Given the description of an element on the screen output the (x, y) to click on. 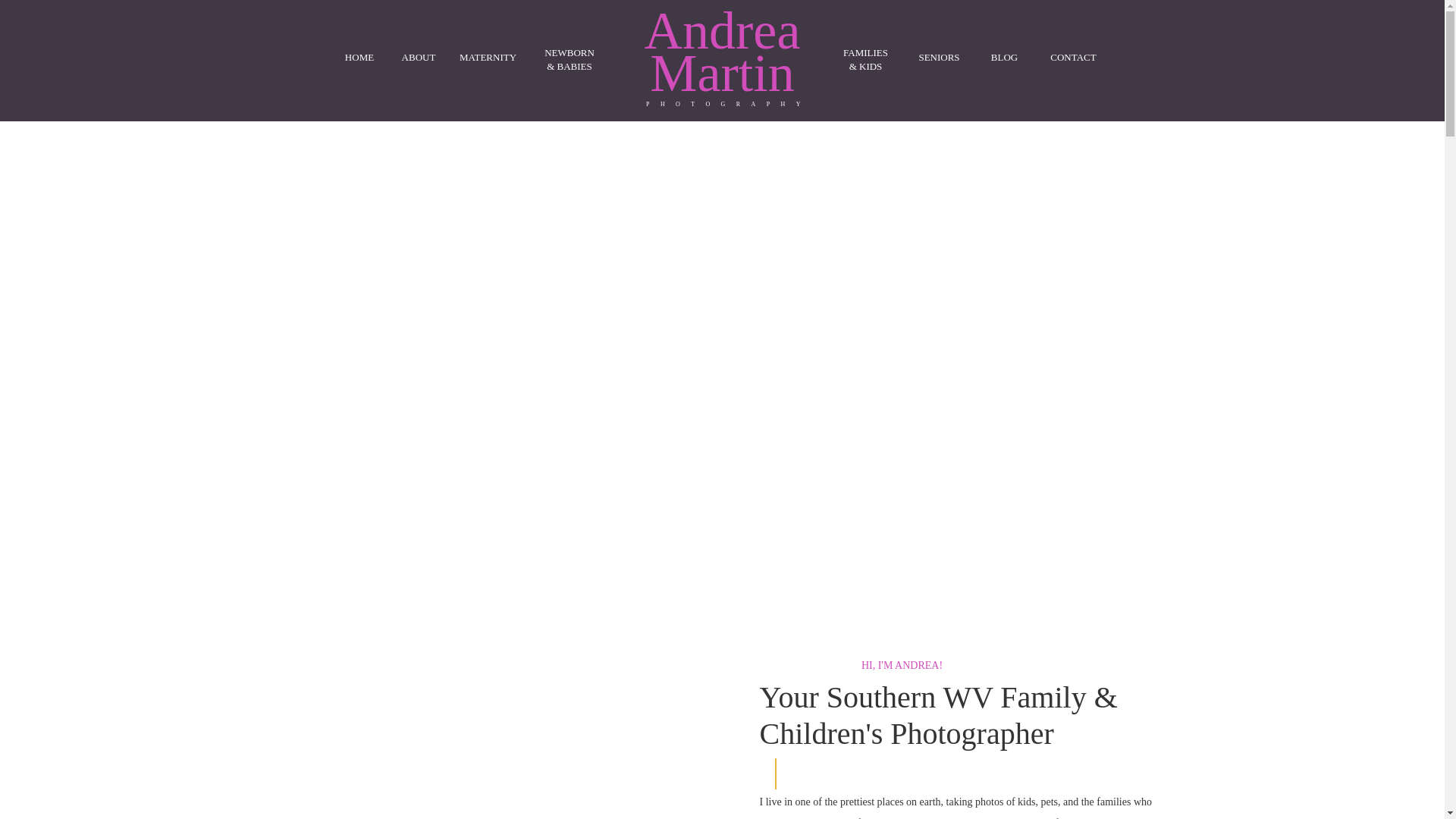
MATERNITY (488, 55)
ABOUT (419, 55)
CONTACT (1073, 56)
Andrea Martin (722, 57)
SCROLL (1154, 325)
BLOG (1004, 56)
HOME (359, 55)
SENIORS (938, 55)
